Given the description of an element on the screen output the (x, y) to click on. 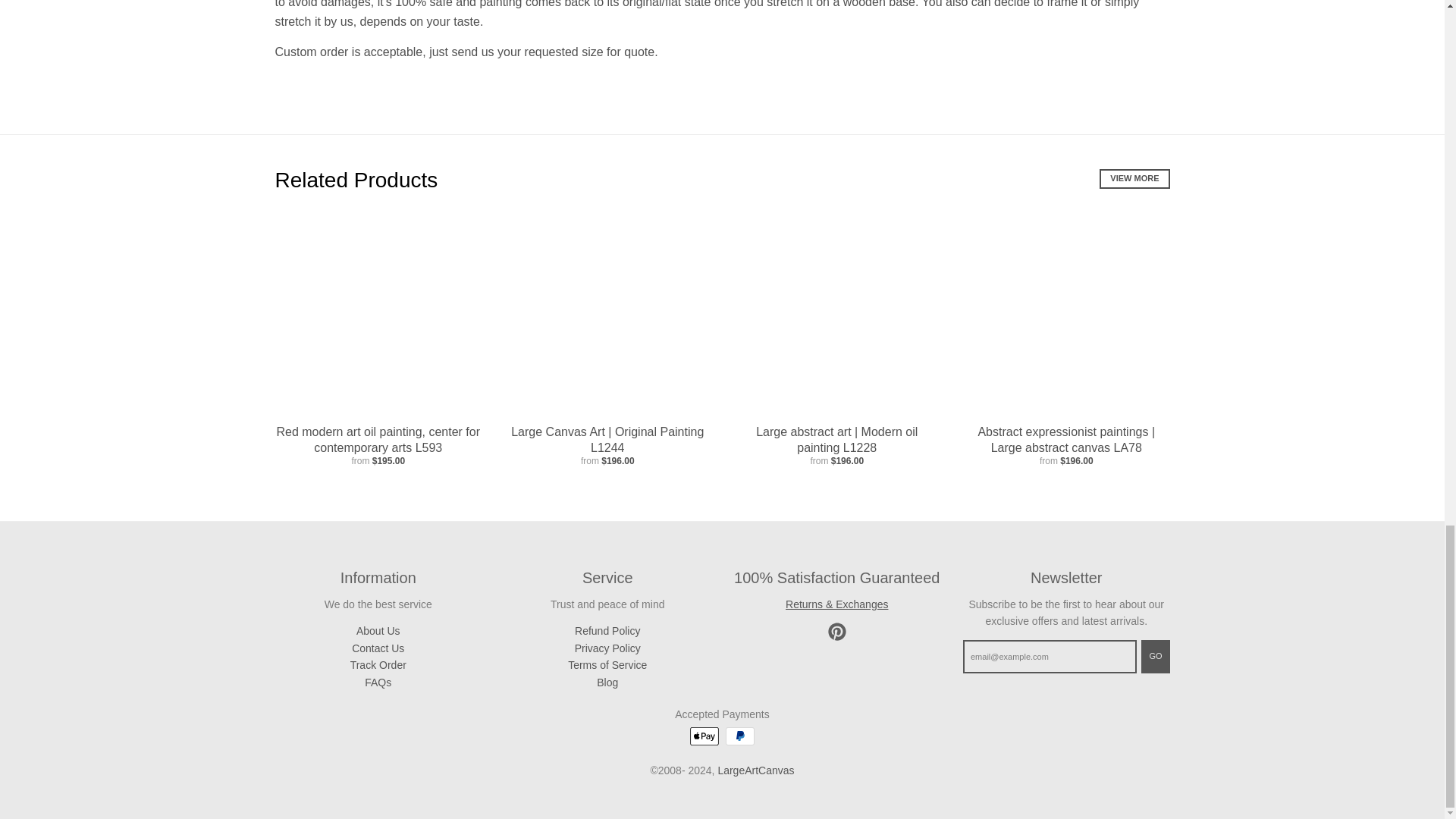
Pinterest - LargeArtCanvas (836, 631)
